Given the description of an element on the screen output the (x, y) to click on. 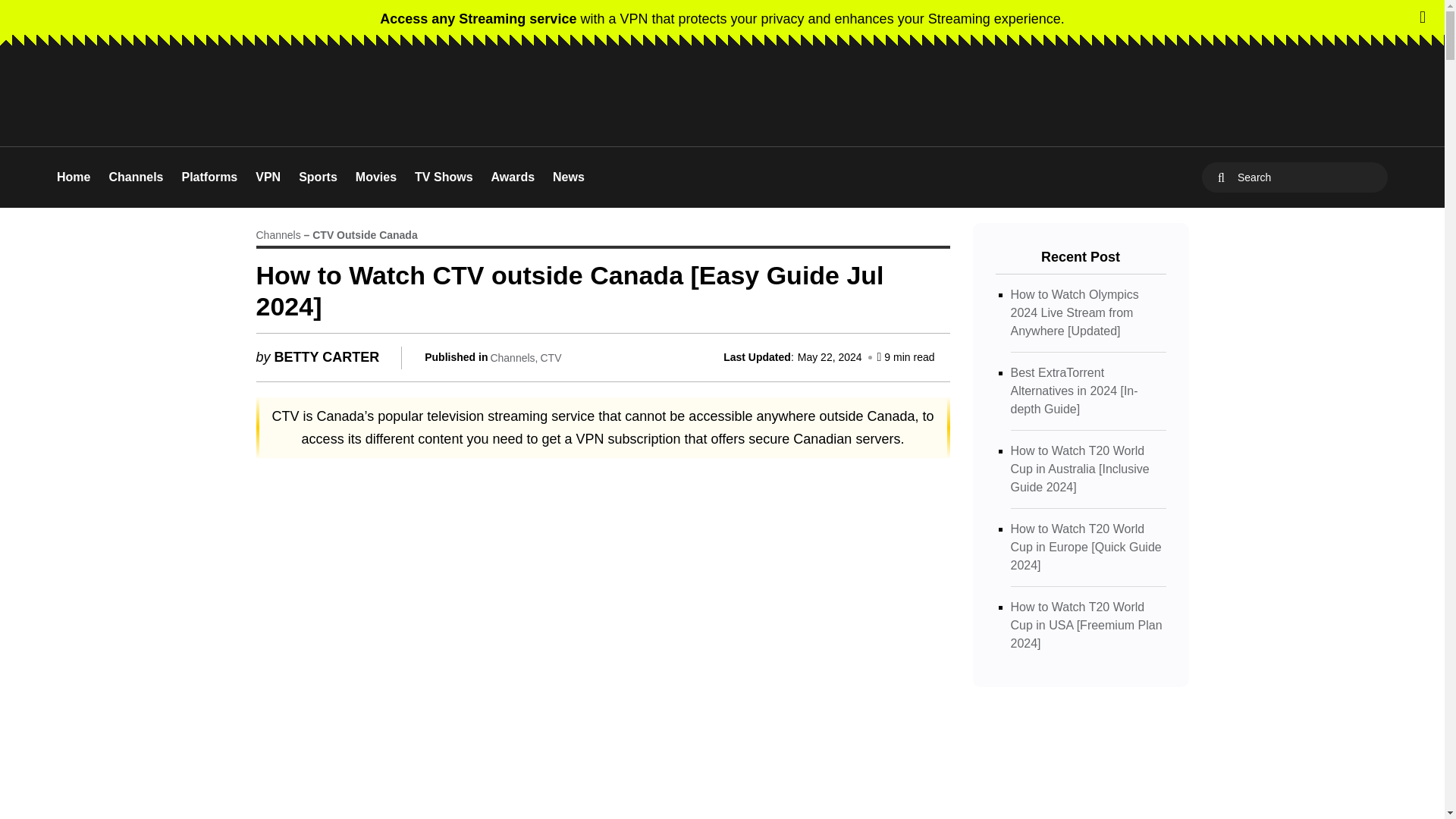
ExpressVPN Exclusive Deal (722, 18)
Platforms (208, 177)
ExpressVPN Exclusive Deal (1111, 95)
ExpressVPN Exclusive Deal (1111, 96)
TV Shows (442, 177)
Channels (135, 177)
